Given the description of an element on the screen output the (x, y) to click on. 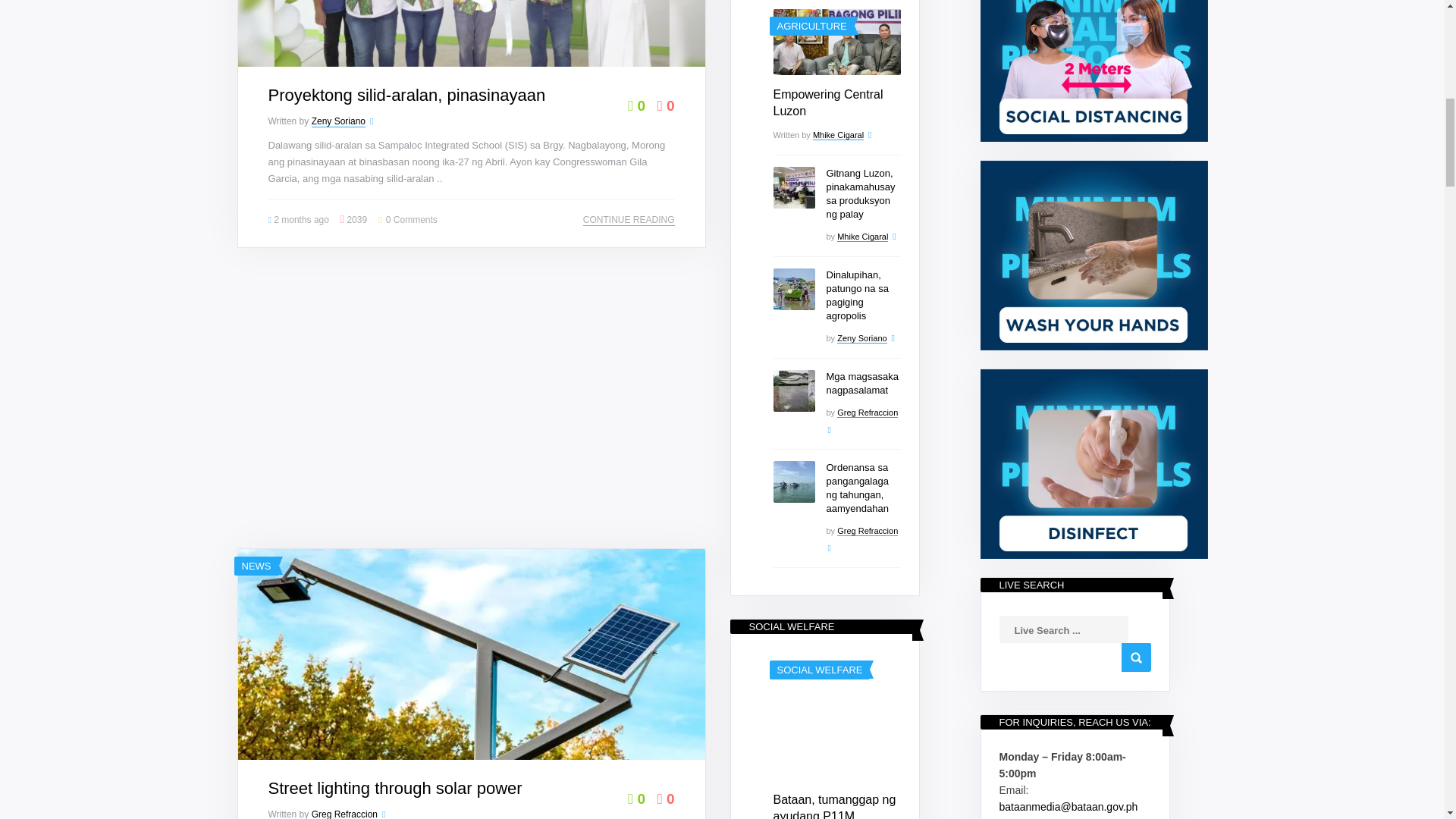
Proyektong silid-aralan, pinasinayaan (406, 94)
Posts by Greg Refraccion (344, 814)
Search (1135, 656)
Zeny Soriano (338, 121)
View all posts in News (255, 565)
Posts by Zeny Soriano (338, 121)
